Given the description of an element on the screen output the (x, y) to click on. 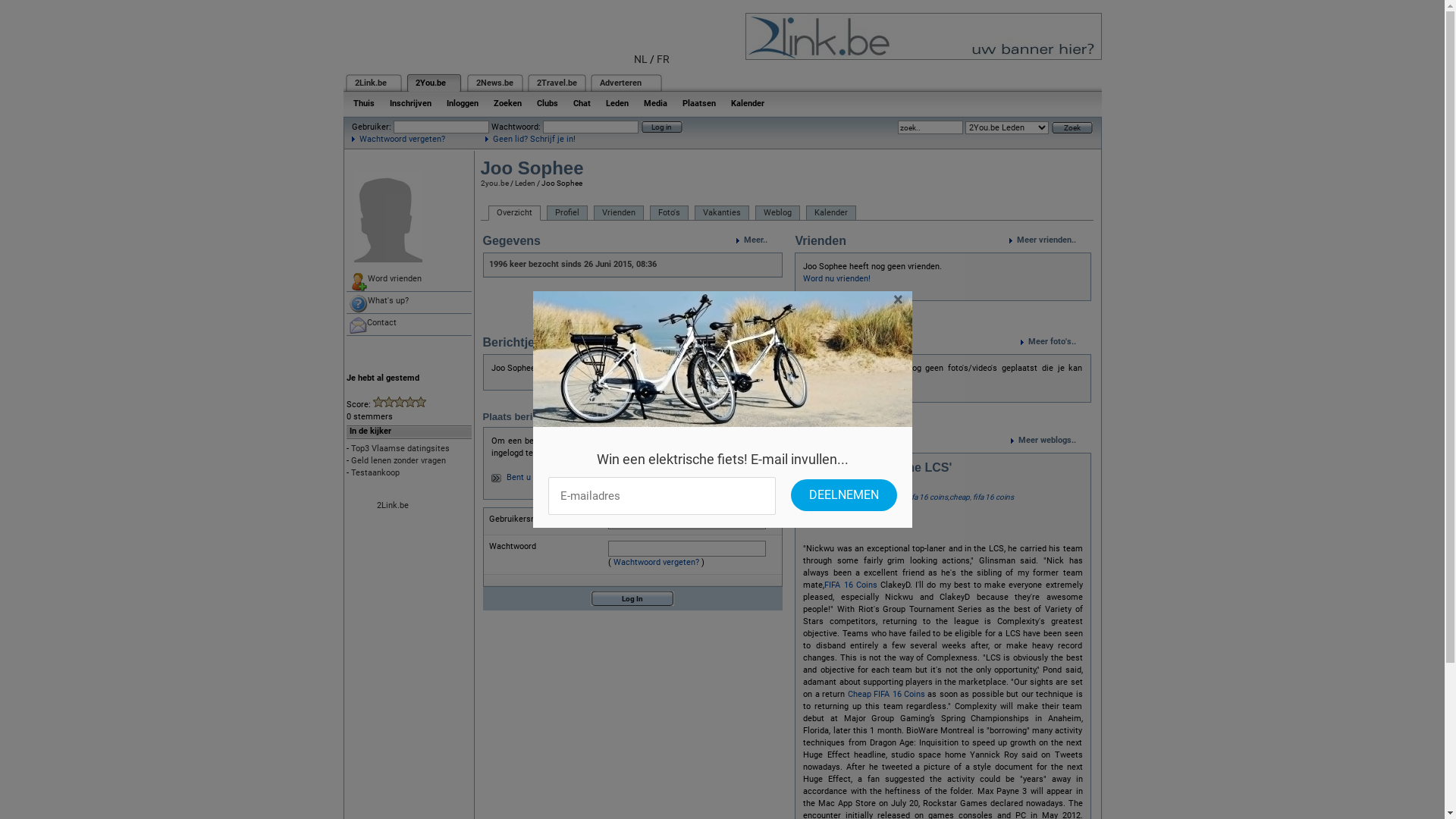
Chat Element type: text (581, 103)
2Link.be Element type: text (391, 505)
Weblog Element type: text (777, 212)
Meer vrienden.. Element type: text (1049, 240)
Contact Element type: text (407, 324)
Zoeken Element type: text (506, 103)
2News.be Element type: text (494, 82)
Log In Element type: text (632, 598)
Kalender Element type: text (747, 103)
FR Element type: text (662, 59)
2Link.be Element type: text (370, 82)
fifa 16 coins,buy Element type: text (876, 496)
Top3 Vlaamse datingsites Element type: text (399, 448)
Inloggen Element type: text (461, 103)
Log in Element type: text (661, 126)
Zoek Element type: text (1071, 126)
Media Element type: text (654, 103)
Kalender Element type: text (830, 212)
Inschrijven Element type: text (410, 103)
Foto's Element type: text (668, 212)
FIFA 16 Coins Element type: text (850, 584)
Bent u nog geen lid? Word lid! Element type: text (562, 477)
Meer weblogs.. Element type: text (1050, 440)
Thuis Element type: text (363, 103)
Clubs Element type: text (547, 103)
Profiel Element type: text (566, 212)
2You.be Element type: text (430, 82)
Word vrienden Element type: text (407, 280)
Word nu vrienden! Element type: text (836, 278)
Overzicht Element type: text (514, 212)
What's up? Element type: text (407, 302)
Geen lid? Schrijf je in! Element type: text (530, 139)
Leden Element type: text (524, 182)
Wachtwoord vergeten? Element type: text (656, 562)
Geld lenen zonder vragen Element type: text (397, 460)
Vakanties Element type: text (721, 212)
fifa 16 coins Element type: text (992, 496)
NL Element type: text (640, 59)
Leden Element type: text (616, 103)
Vrienden Element type: text (618, 212)
fifa 16 coins,cheap Element type: text (937, 496)
Meer.. Element type: text (759, 240)
2Travel.be Element type: text (556, 82)
Wachtwoord vergeten? Element type: text (398, 139)
Adverteren Element type: text (619, 82)
Plaatsen Element type: text (698, 103)
Cheap FIFA 16 Coins Element type: text (886, 694)
2you.be Element type: text (494, 182)
Testaankoop Element type: text (374, 472)
Meer foto's.. Element type: text (1055, 341)
